Given the description of an element on the screen output the (x, y) to click on. 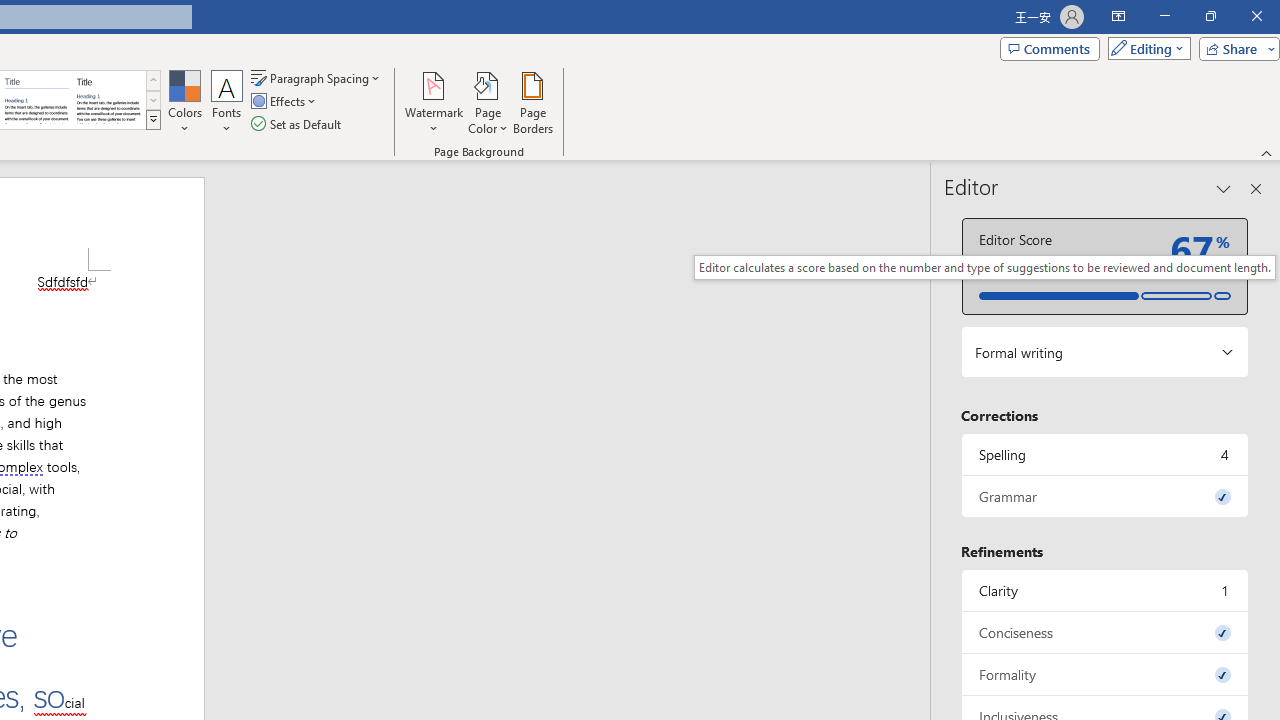
Colors (184, 102)
